Given the description of an element on the screen output the (x, y) to click on. 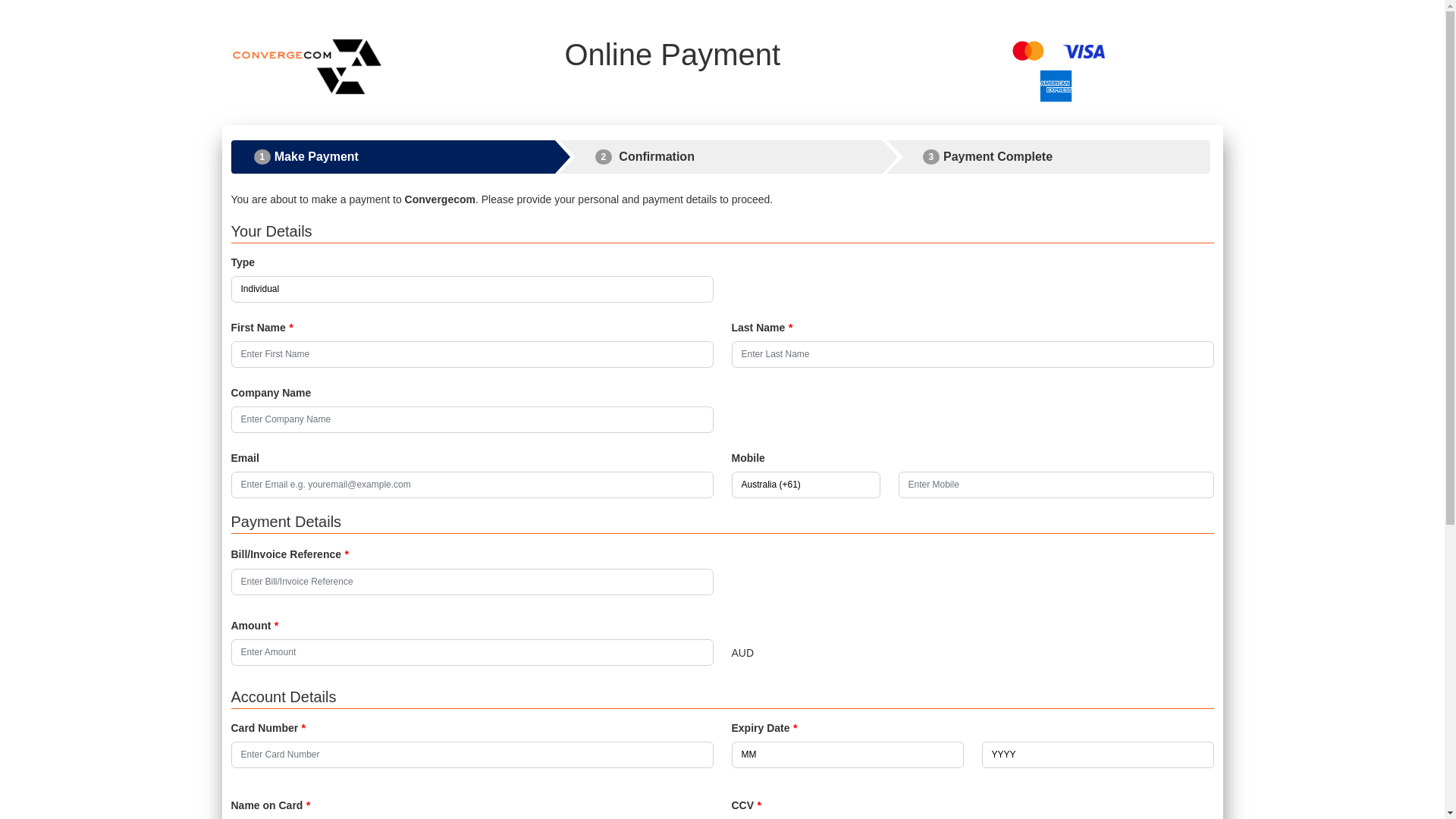
3Payment Complete Element type: text (1048, 156)
Amex American Element type: hover (1055, 85)
1Make Payment Element type: text (392, 156)
Convergecom Element type: hover (306, 66)
2 Confirmation Element type: text (720, 156)
Mastercard Logo Element type: hover (1027, 50)
Visa Logo Element type: hover (1083, 51)
